Given the description of an element on the screen output the (x, y) to click on. 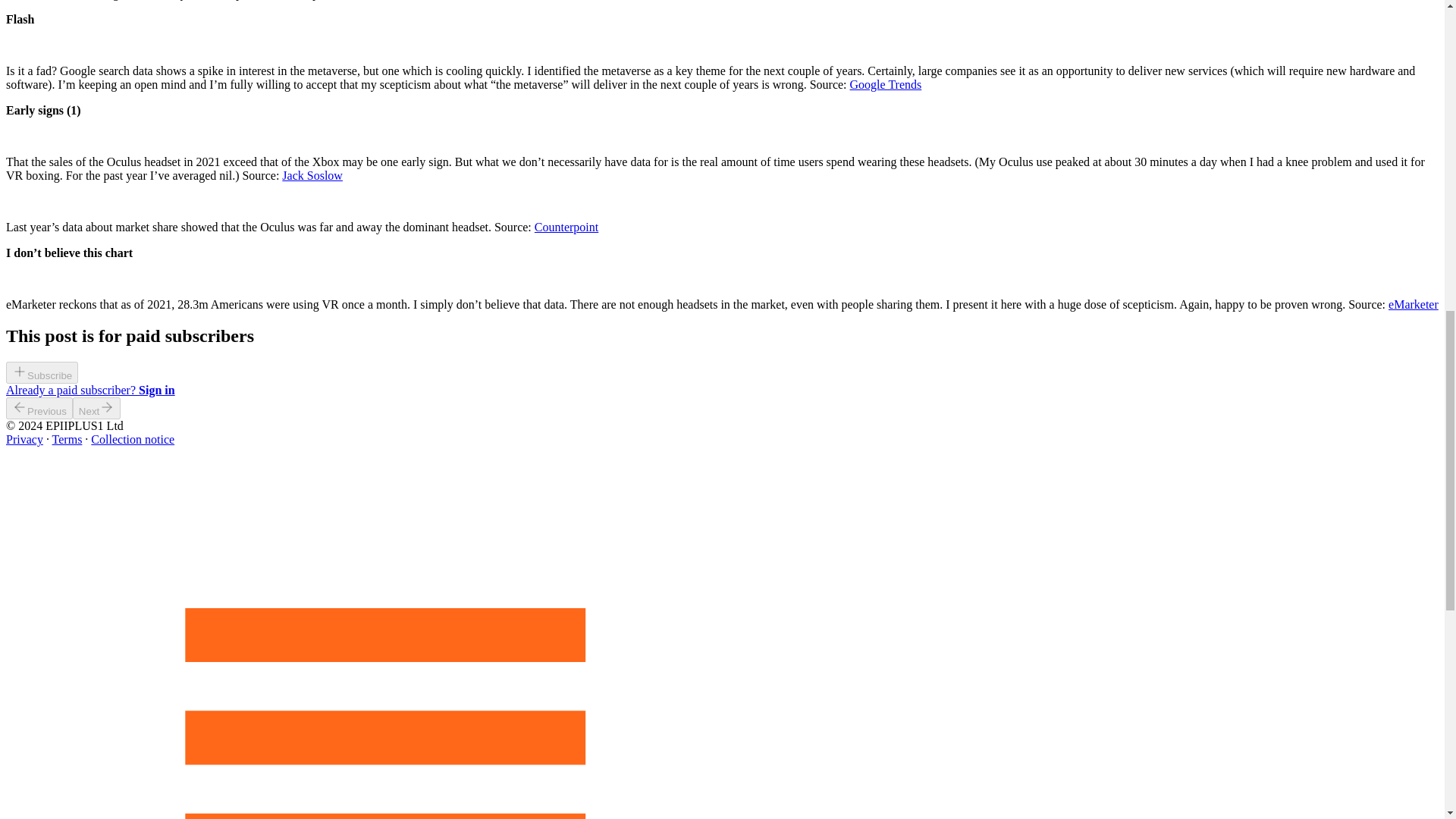
Jack Soslow (312, 174)
Subscribe (41, 374)
Google Trends (885, 83)
Counterpoint (566, 226)
Privacy (24, 439)
Already a paid subscriber? Sign in (89, 390)
Previous (38, 408)
Subscribe (41, 372)
Next (96, 408)
